Given the description of an element on the screen output the (x, y) to click on. 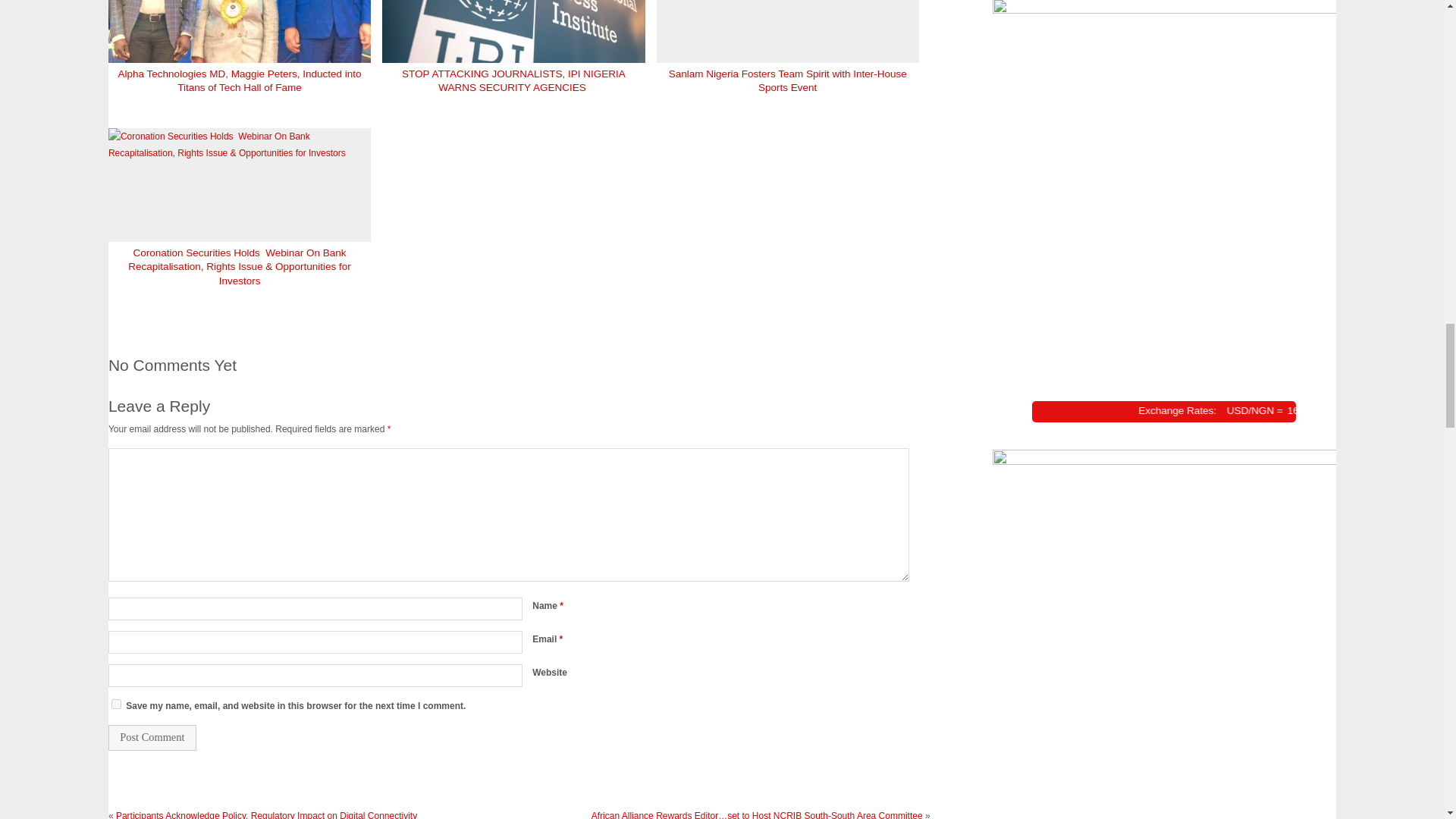
yes (116, 704)
Post Comment (151, 737)
